Given the description of an element on the screen output the (x, y) to click on. 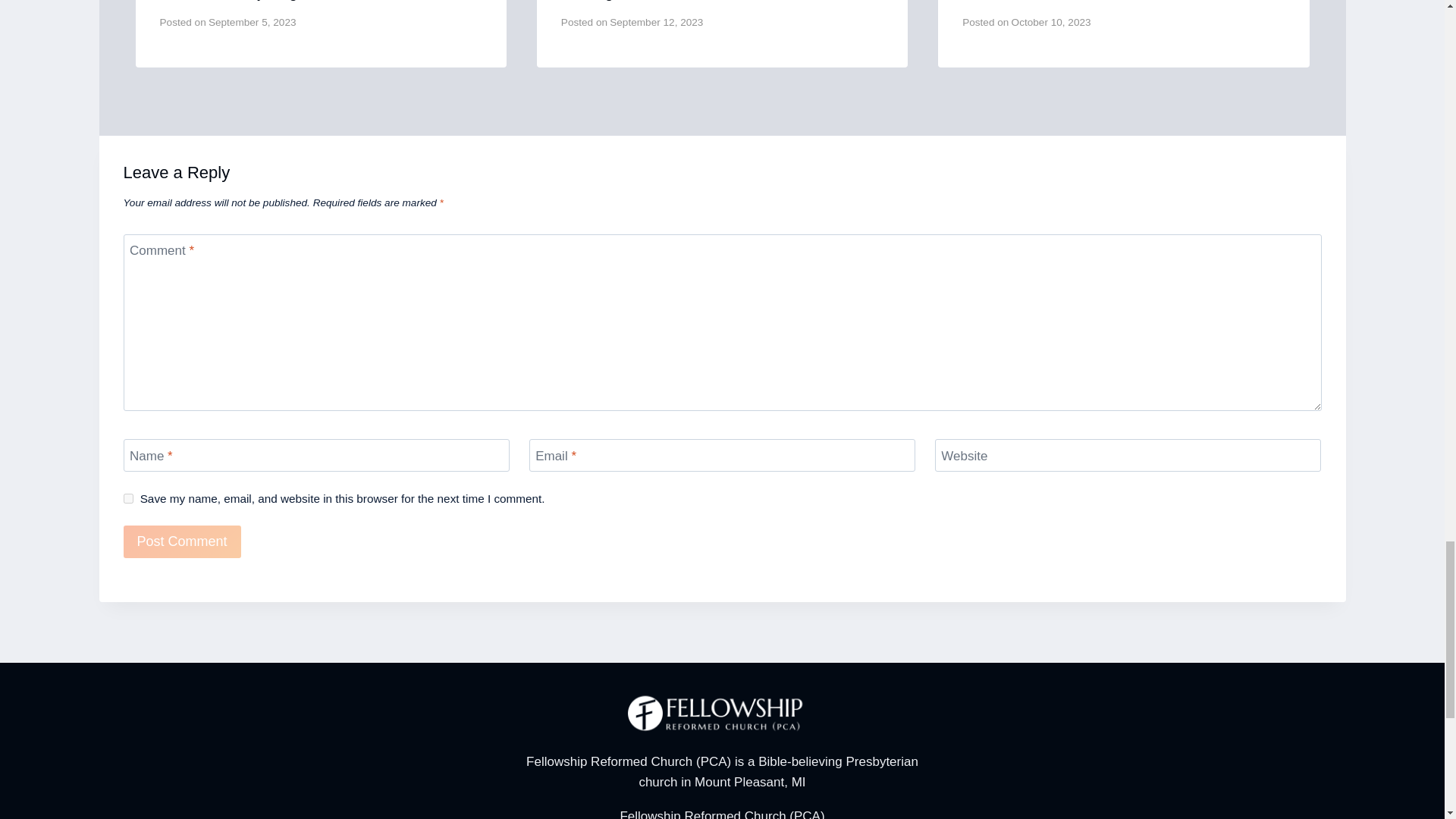
Post Comment (181, 541)
yes (127, 498)
